Given the description of an element on the screen output the (x, y) to click on. 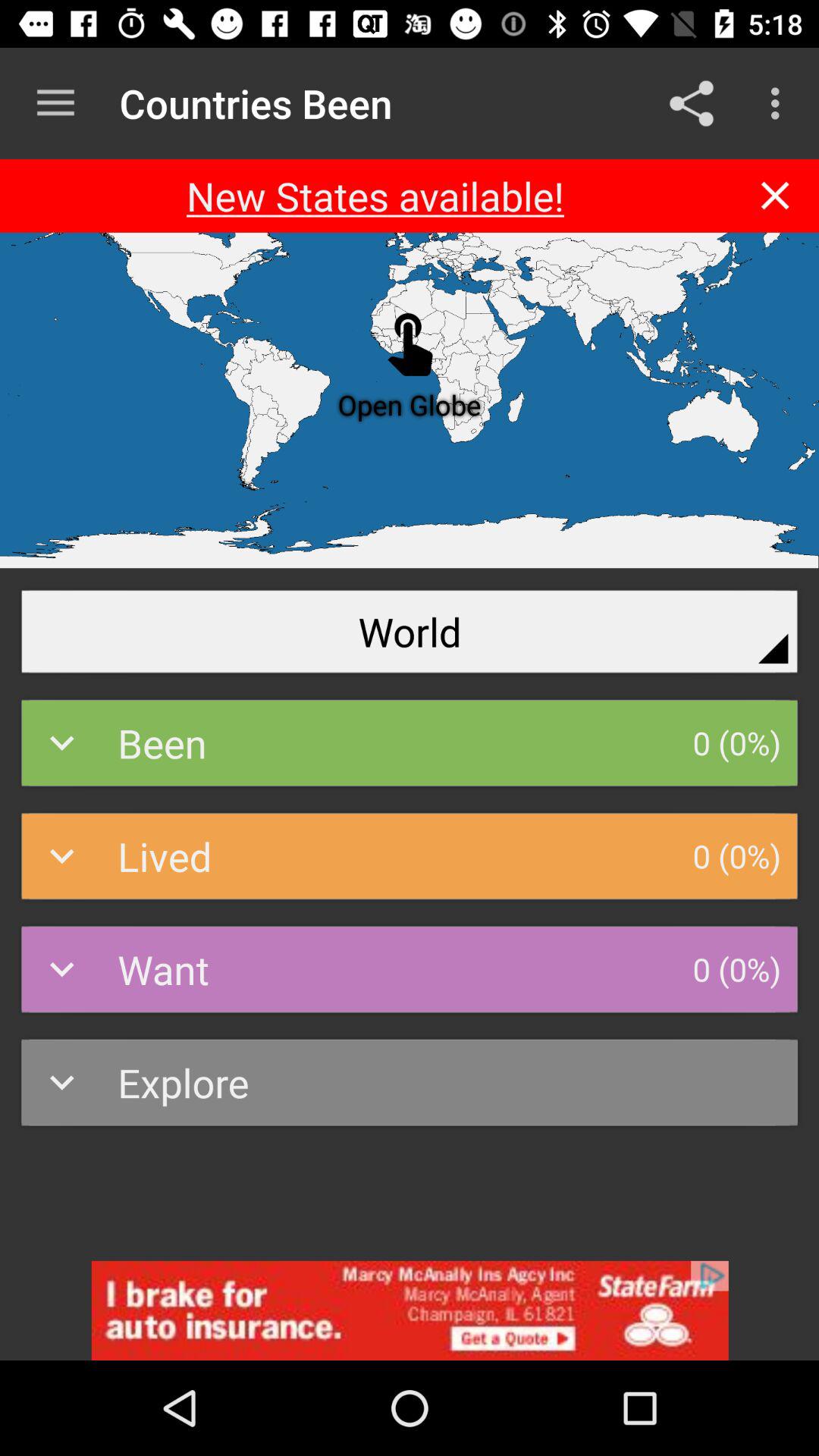
go to addverdisment (409, 1310)
